Given the description of an element on the screen output the (x, y) to click on. 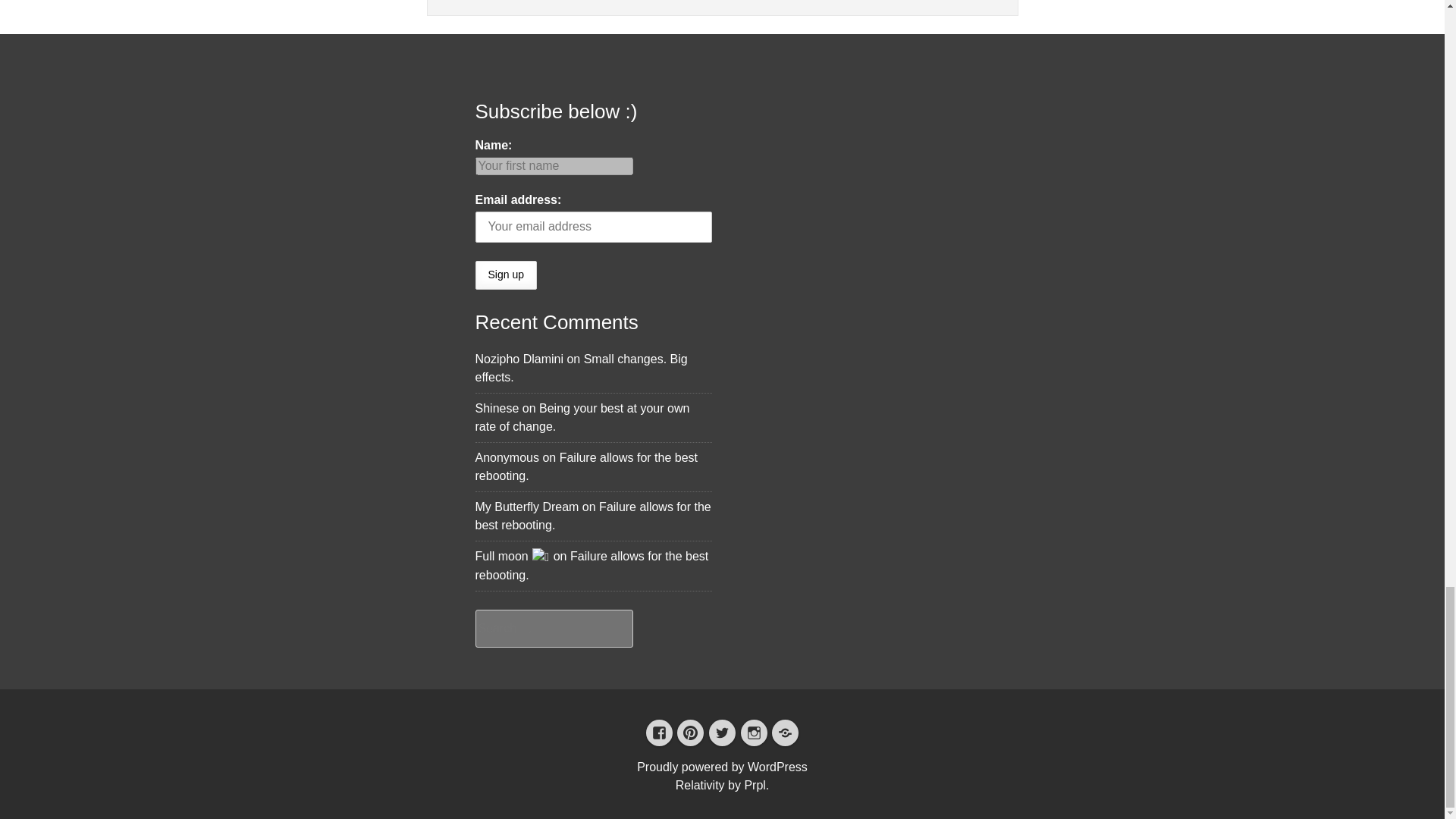
Sign up (504, 275)
Being your best at your own rate of change. (581, 417)
B (784, 730)
Proudly powered by WordPress (722, 766)
Twitter (721, 730)
Failure allows for the best rebooting. (590, 565)
Instagram (753, 730)
Failure allows for the best rebooting. (585, 466)
Relativity (700, 784)
Prpl (754, 784)
